Given the description of an element on the screen output the (x, y) to click on. 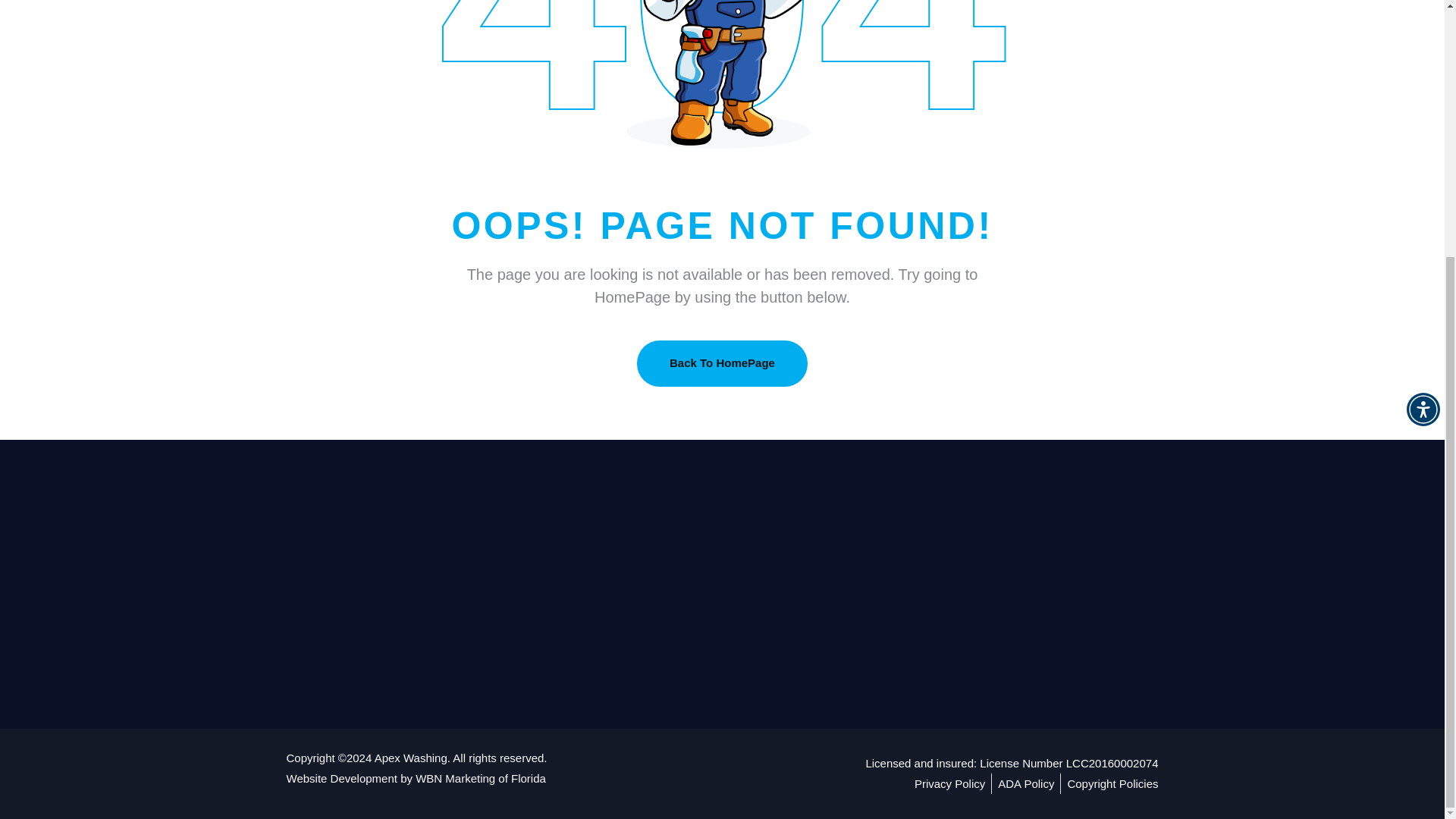
WBN-Marketing (480, 778)
Back To HomePage (722, 363)
Accessibility Menu (1422, 43)
